Given the description of an element on the screen output the (x, y) to click on. 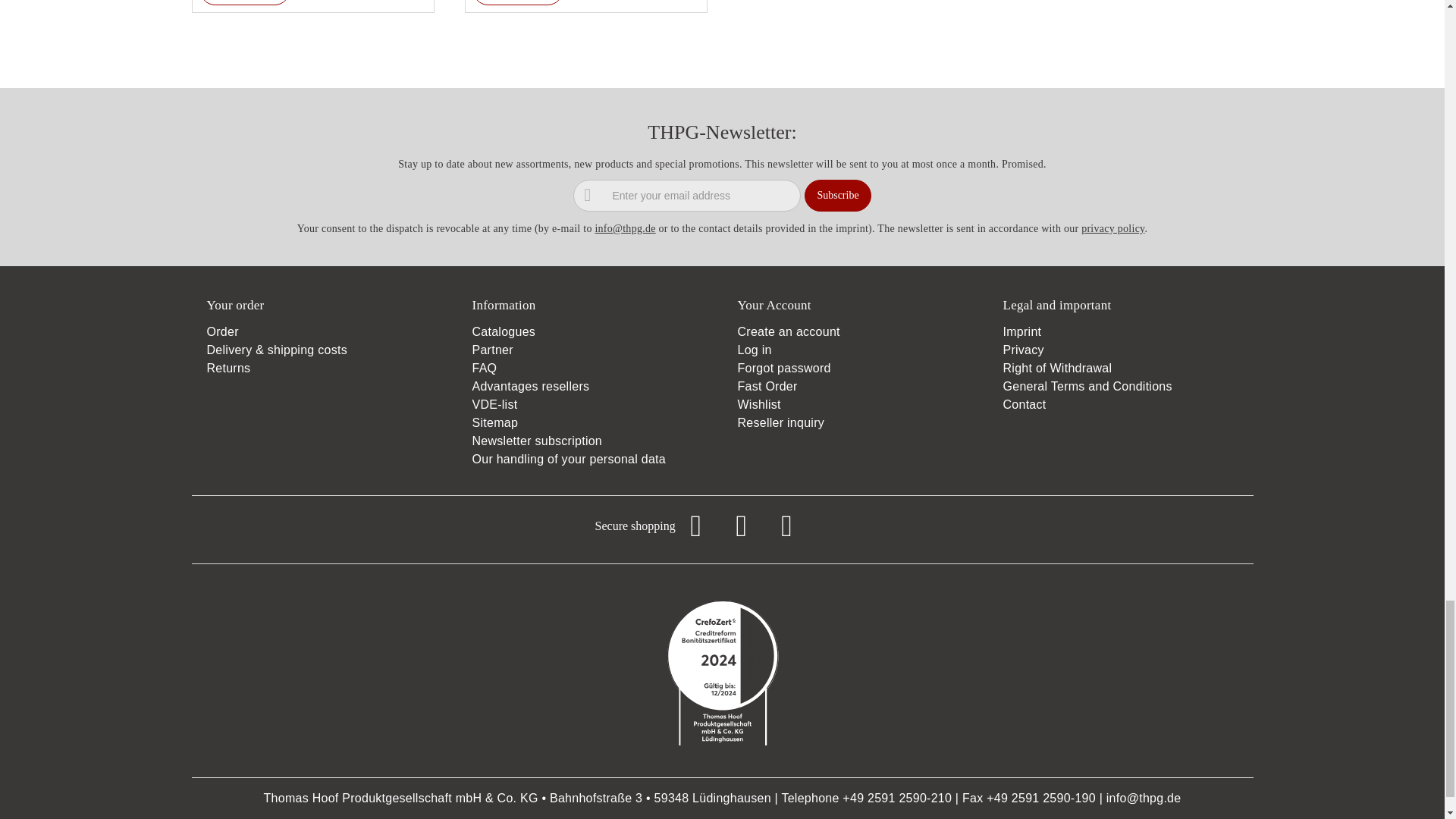
0 (510, 2)
0 (236, 2)
